Given the description of an element on the screen output the (x, y) to click on. 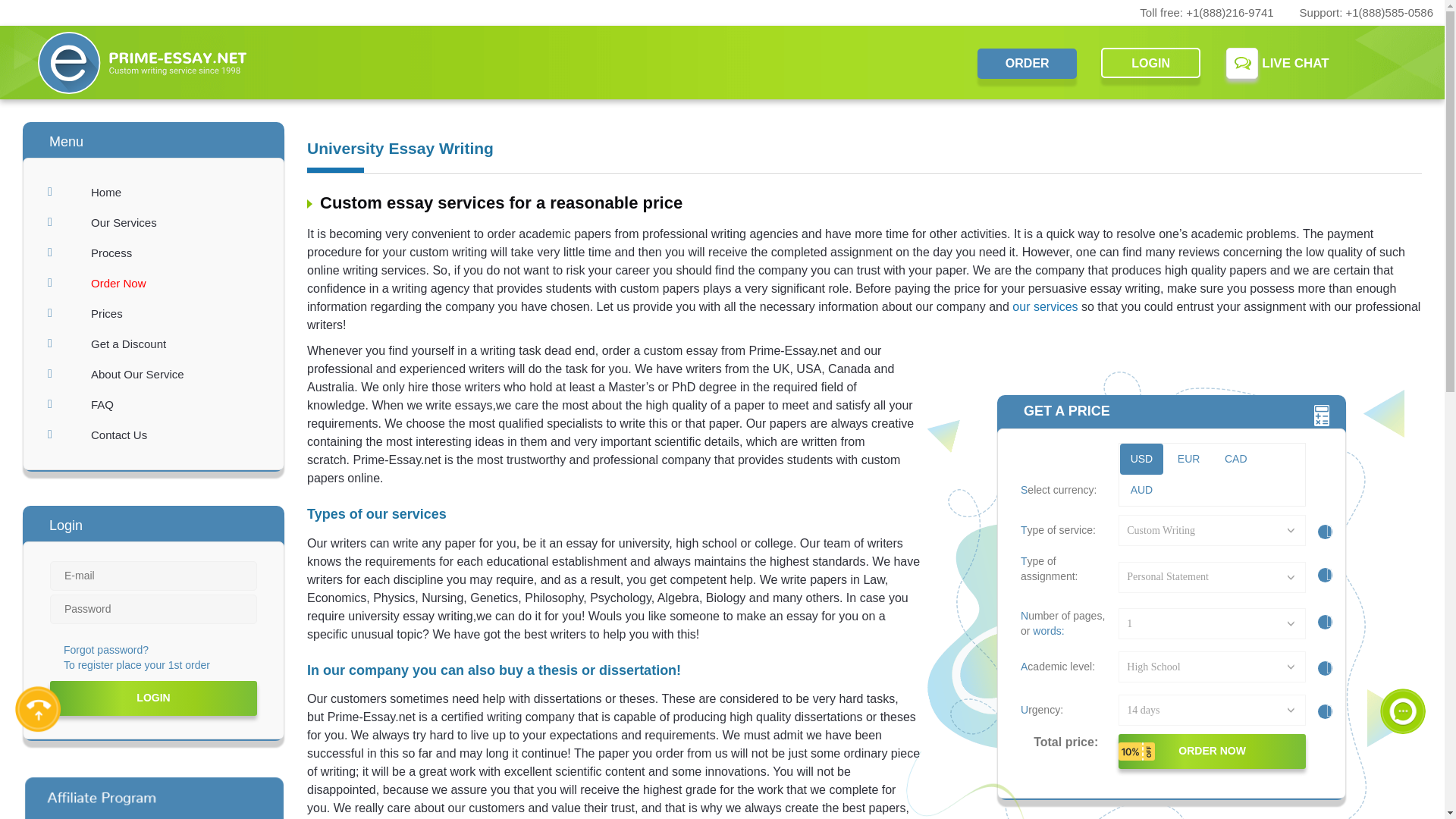
Contact Us (153, 435)
CAD (1235, 459)
AUD (1140, 490)
Order now (1212, 751)
Prices (153, 313)
Process (153, 253)
Login (153, 697)
To register place your 1st order (129, 665)
ORDER (1026, 63)
Order now (1212, 751)
